Given the description of an element on the screen output the (x, y) to click on. 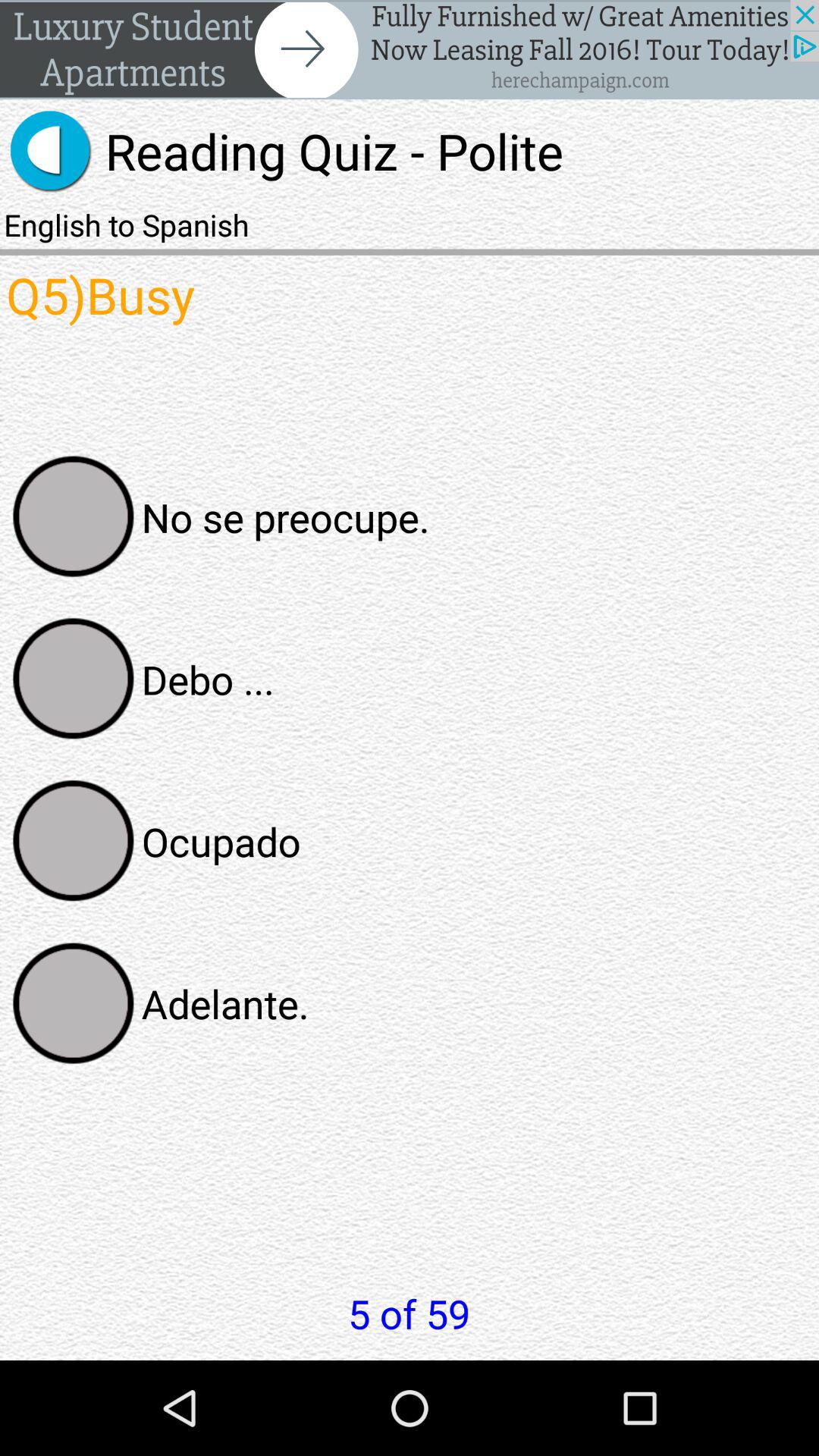
select answer (73, 516)
